Given the description of an element on the screen output the (x, y) to click on. 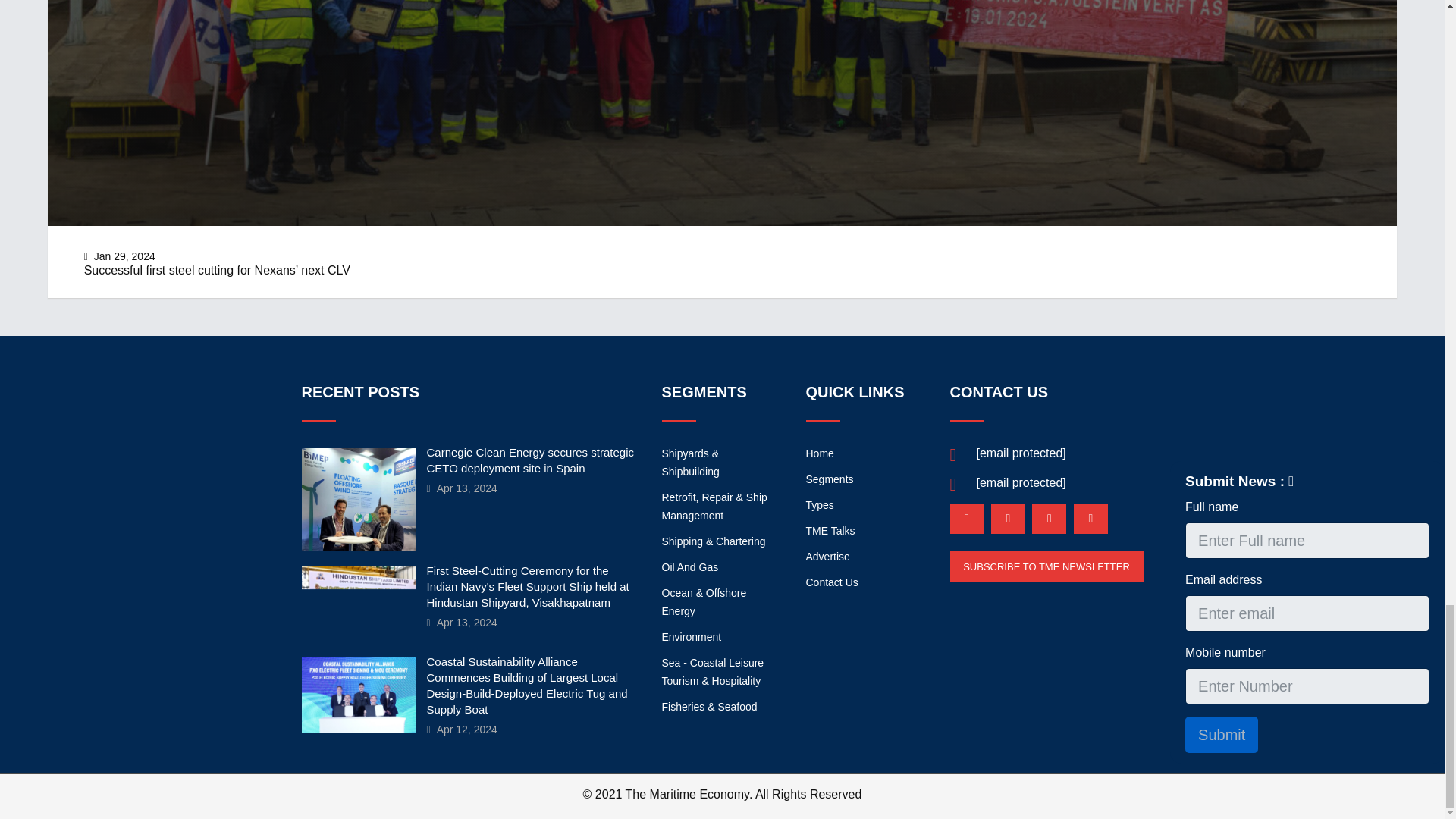
youtube (1091, 518)
Linkedin  (966, 518)
twitter (1048, 518)
facebook (1008, 518)
